Given the description of an element on the screen output the (x, y) to click on. 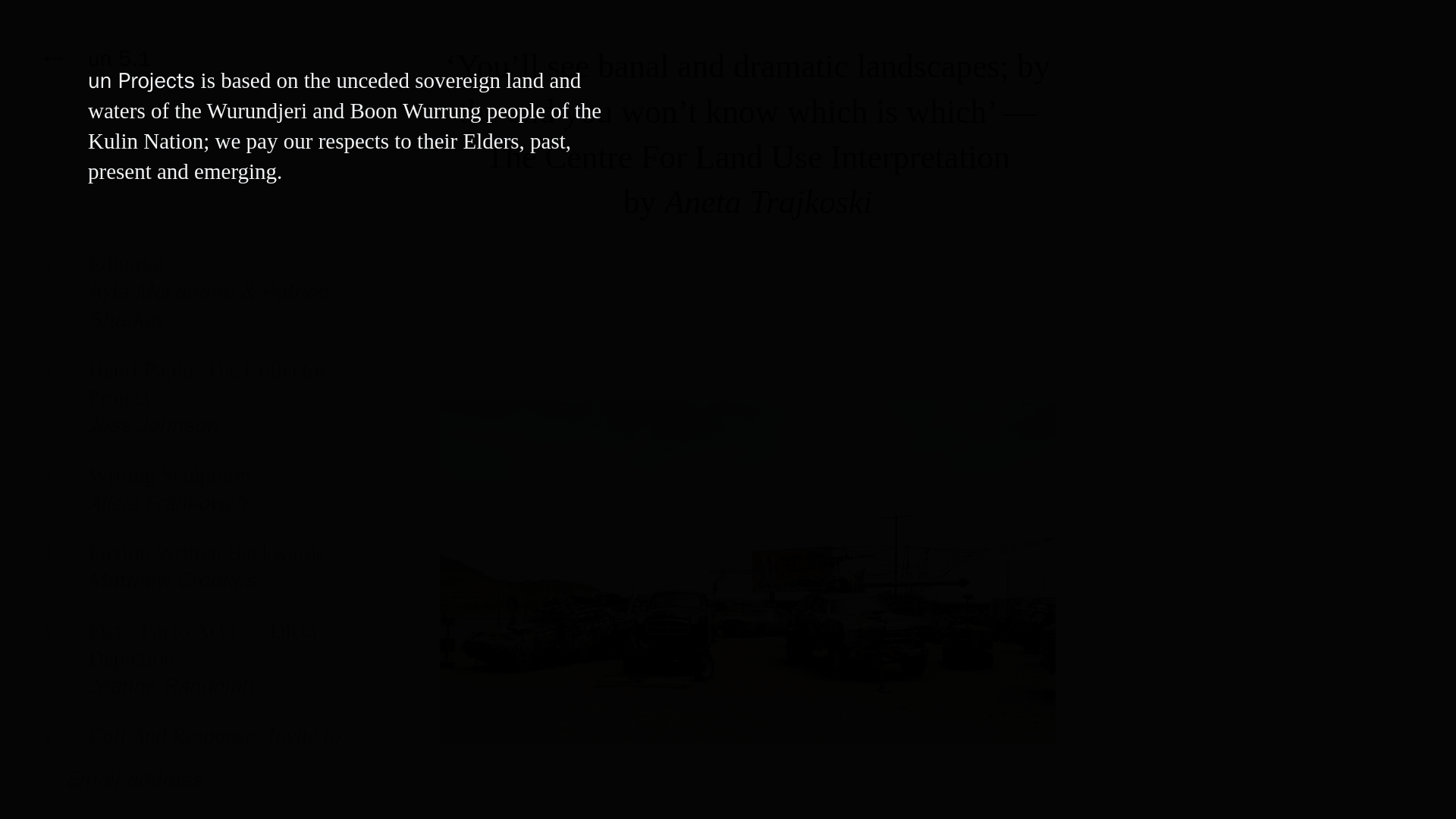
Aneta Trajkoski (197, 408)
Posts by Aneta Trajkoski (767, 201)
